Given the description of an element on the screen output the (x, y) to click on. 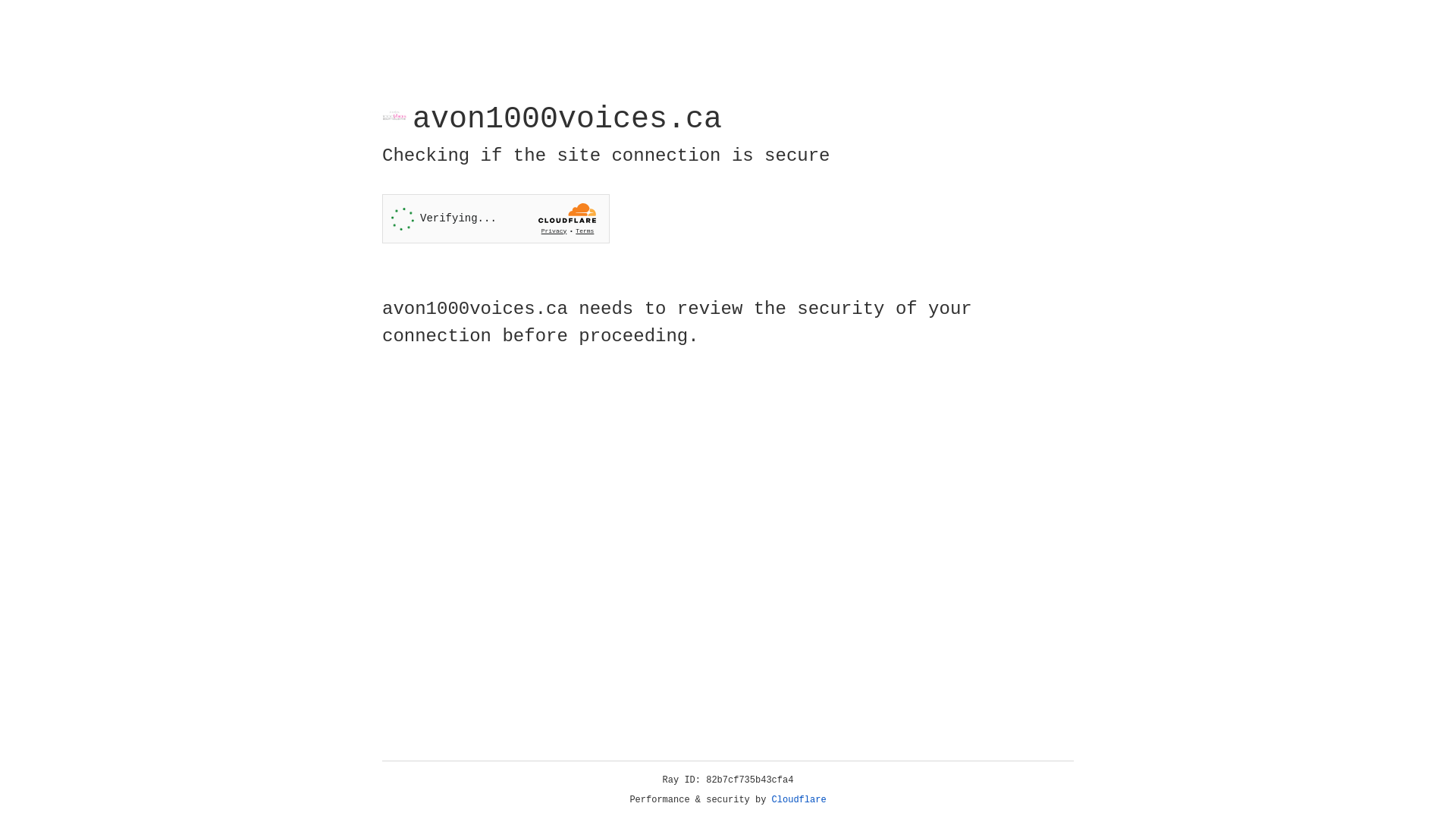
Widget containing a Cloudflare security challenge Element type: hover (495, 218)
Cloudflare Element type: text (798, 799)
